Given the description of an element on the screen output the (x, y) to click on. 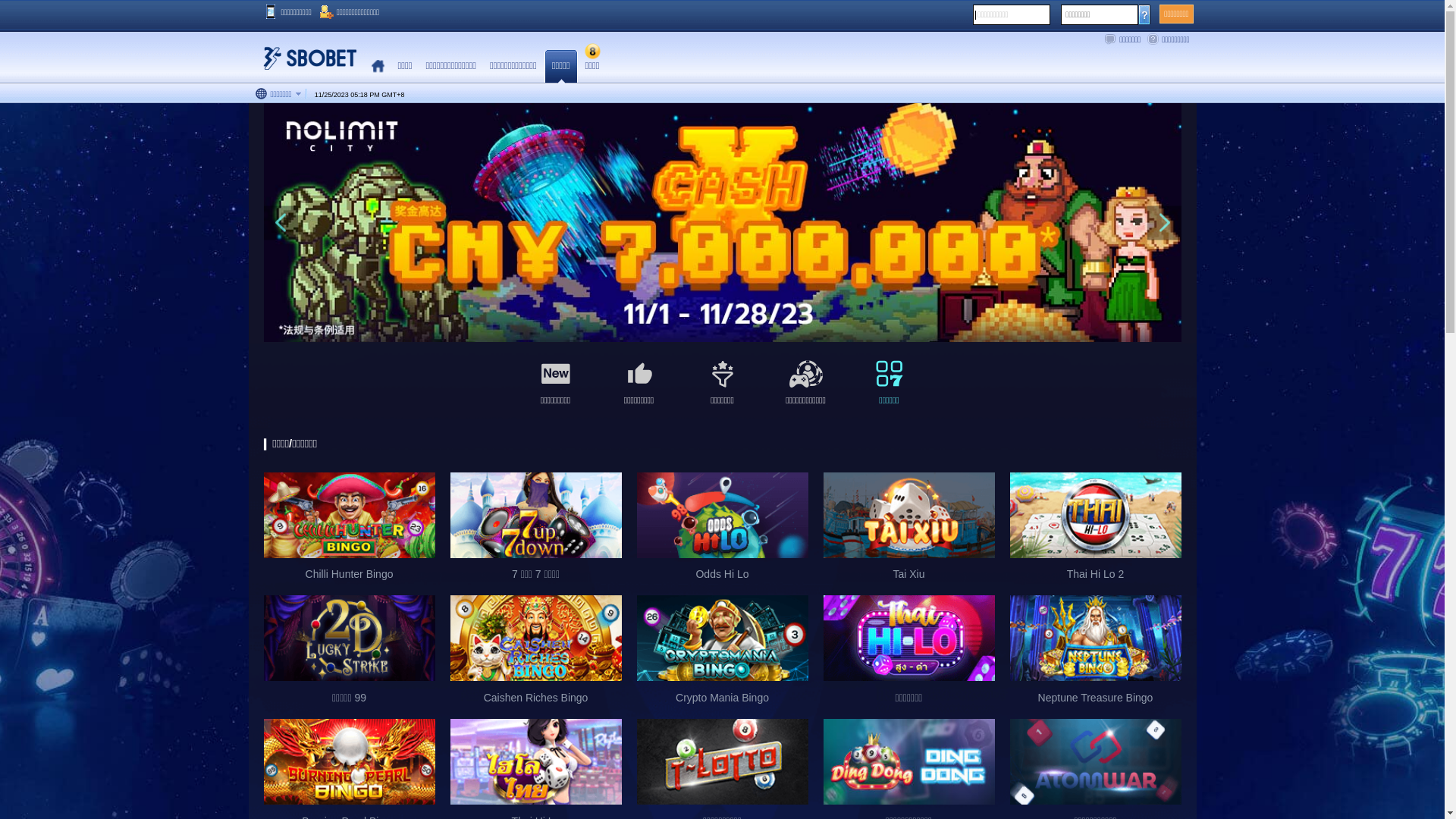
Thai Hi Lo Element type: hover (535, 761)
2 Element type: text (698, 318)
Crypto Mania Bingo Element type: hover (722, 637)
Tai Xiu Element type: hover (908, 515)
6 Element type: text (759, 318)
Neptune Treasure Bingo Element type: text (1095, 654)
Burning Pearl Bingo Element type: hover (349, 761)
3 Element type: text (713, 318)
Crypto Mania Bingo Element type: text (722, 654)
Odds Hi Lo Element type: text (722, 531)
1 Element type: text (683, 318)
Thai Hi Lo 2 Element type: text (1095, 531)
Chilli Hunter Bingo Element type: hover (349, 515)
Odds Hi Lo Element type: hover (722, 515)
Thai Hi Lo 2 Element type: hover (1095, 515)
Next Element type: text (1163, 223)
Caishen Riches Bingo Element type: text (535, 654)
Tai Xiu Element type: text (908, 531)
Home Element type: text (377, 65)
Previous Element type: text (280, 223)
Chilli Hunter Bingo Element type: text (349, 531)
+ Element type: text (398, 94)
4 Element type: text (729, 318)
5 Element type: text (744, 318)
Neptune Treasure Bingo Element type: hover (1095, 637)
Caishen Riches Bingo Element type: hover (535, 637)
